Given the description of an element on the screen output the (x, y) to click on. 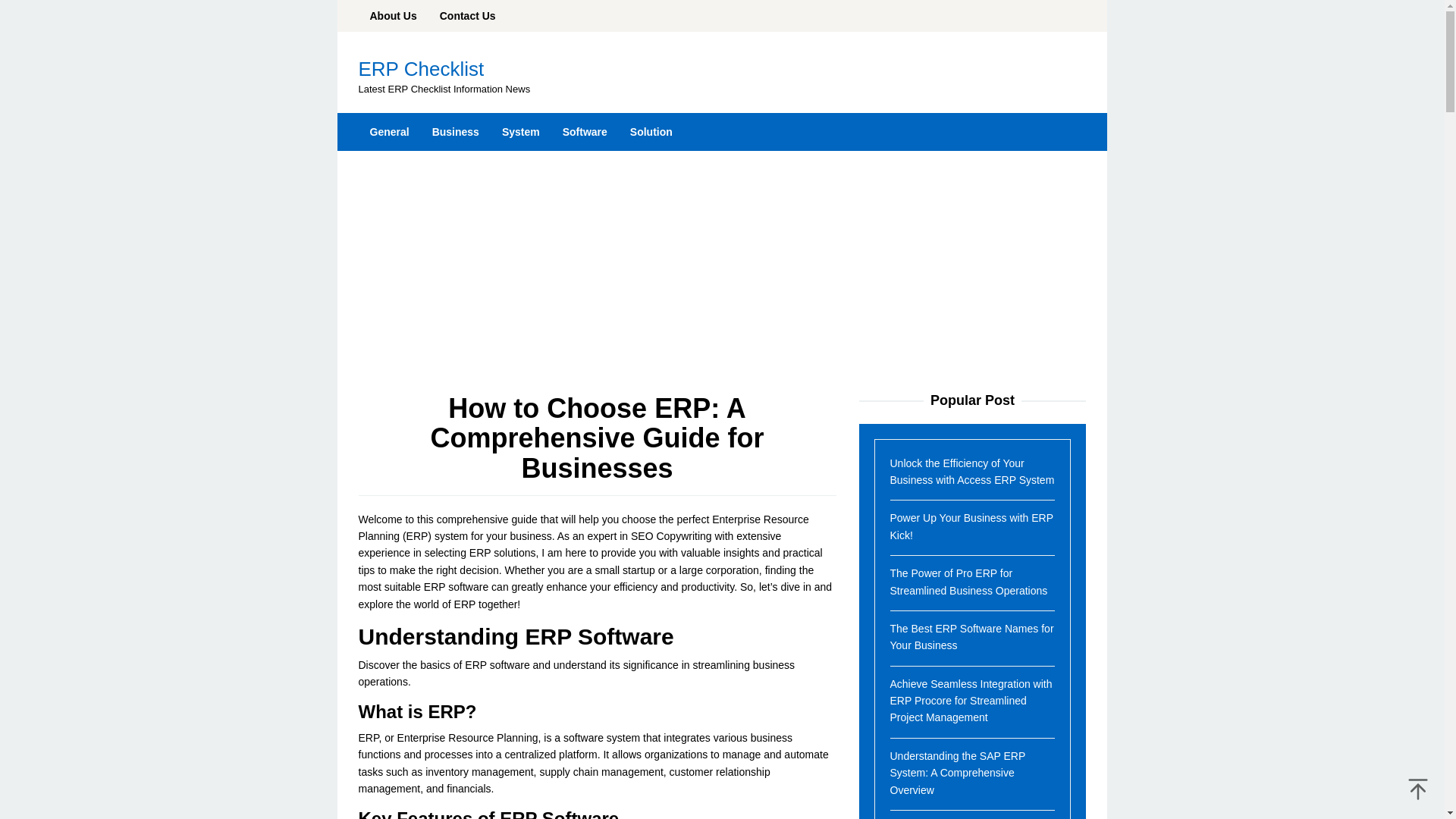
General (389, 131)
Solution (651, 131)
Business (455, 131)
System (520, 131)
ERP Checklist (420, 68)
Understanding the SAP ERP System: A Comprehensive Overview (957, 773)
